Given the description of an element on the screen output the (x, y) to click on. 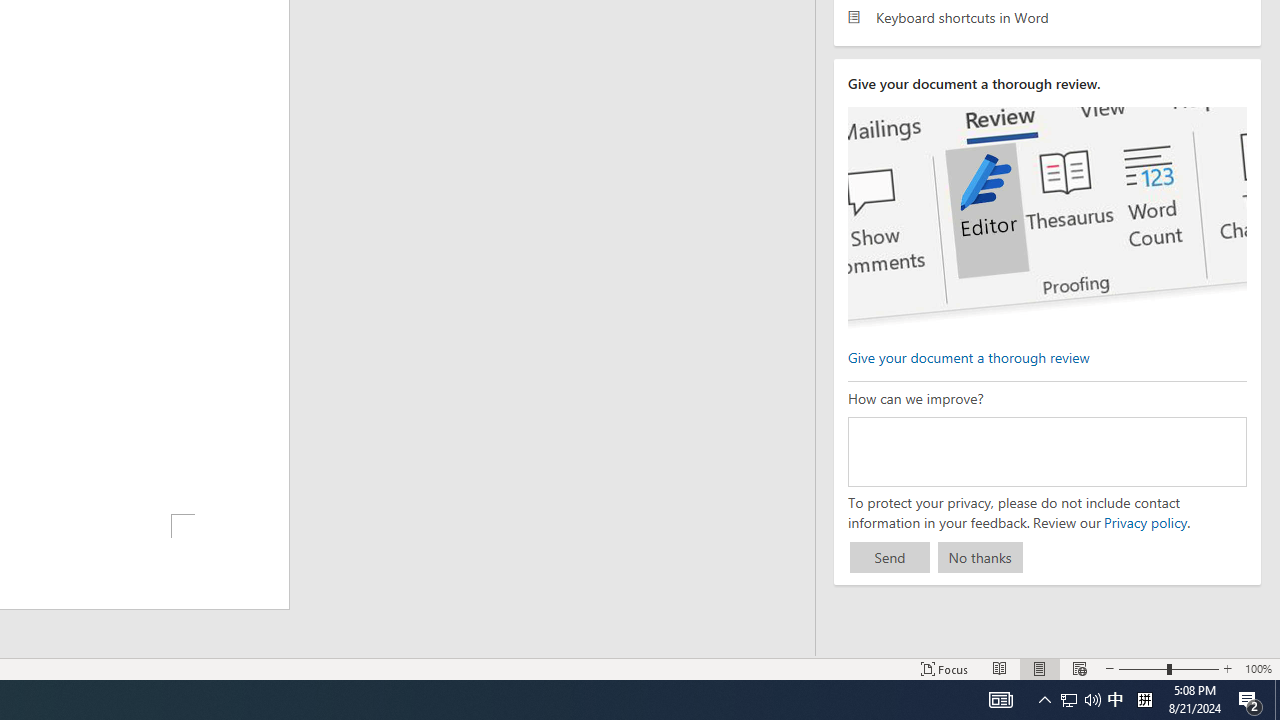
Web Layout (1079, 668)
No thanks (980, 557)
Zoom (1168, 668)
Give your document a thorough review (968, 356)
Zoom 100% (1258, 668)
Print Layout (1039, 668)
Privacy policy (1144, 522)
Focus  (944, 668)
Send (889, 557)
Zoom Out (1142, 668)
Read Mode (1000, 668)
editor ui screenshot (1046, 218)
Zoom In (1227, 668)
How can we improve? (1046, 451)
Keyboard shortcuts in Word (1047, 16)
